Given the description of an element on the screen output the (x, y) to click on. 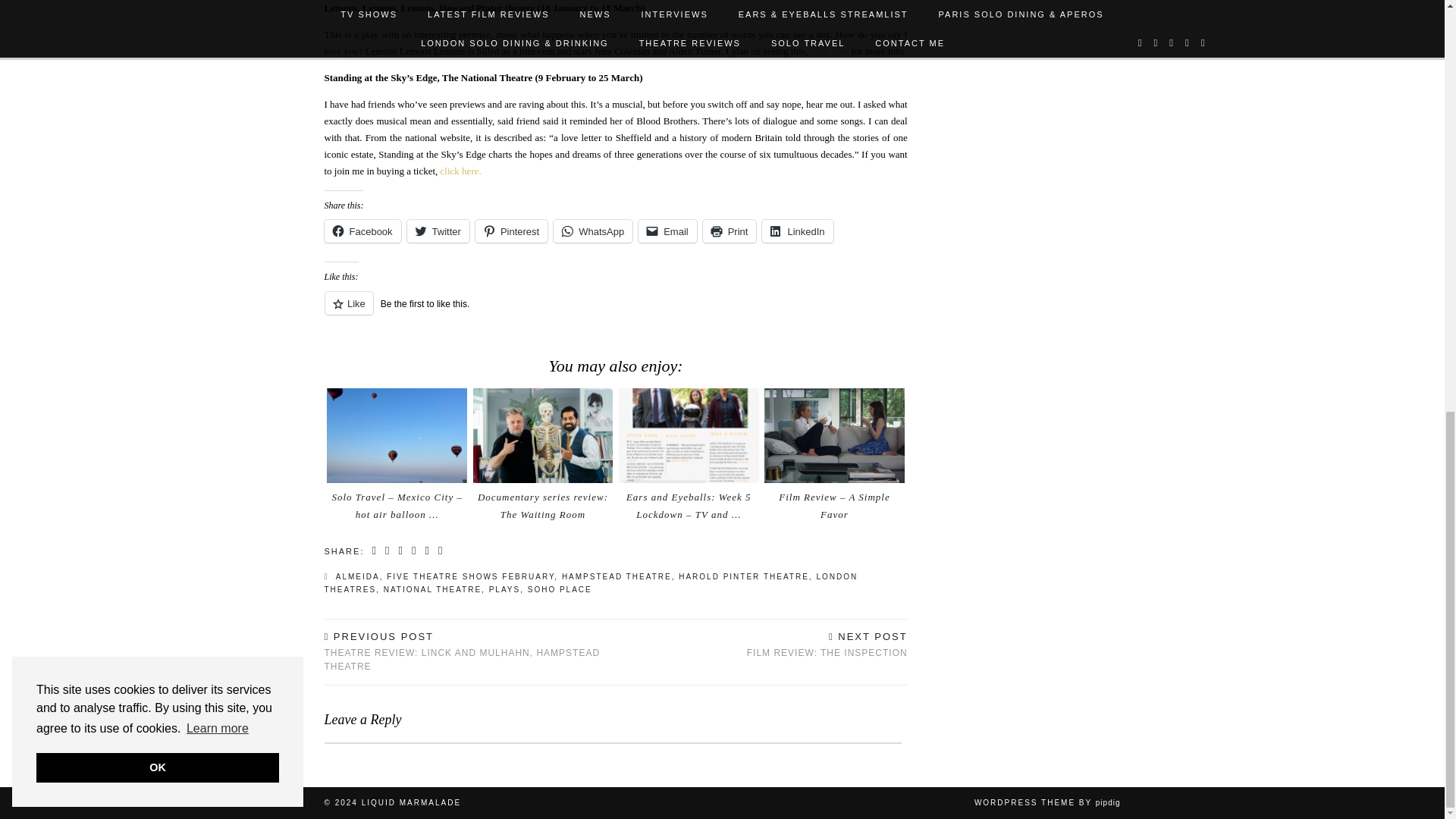
Click to share on Facebook (362, 231)
Click to share on Twitter (437, 231)
